Given the description of an element on the screen output the (x, y) to click on. 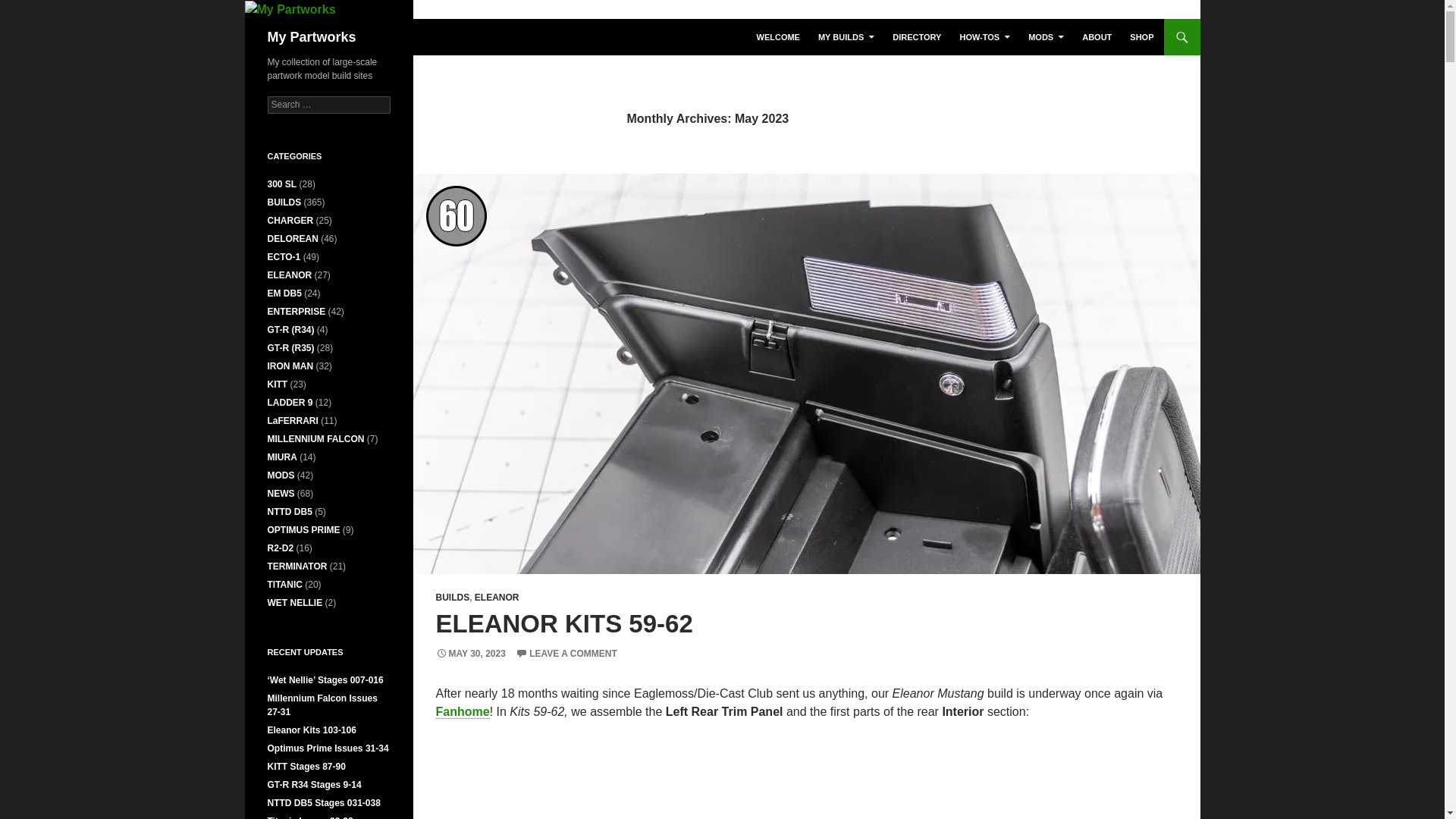
My Partworks (310, 36)
DIRECTORY (916, 36)
MY BUILDS (846, 36)
MODS (1046, 36)
WELCOME (778, 36)
HOW-TOS (984, 36)
